Given the description of an element on the screen output the (x, y) to click on. 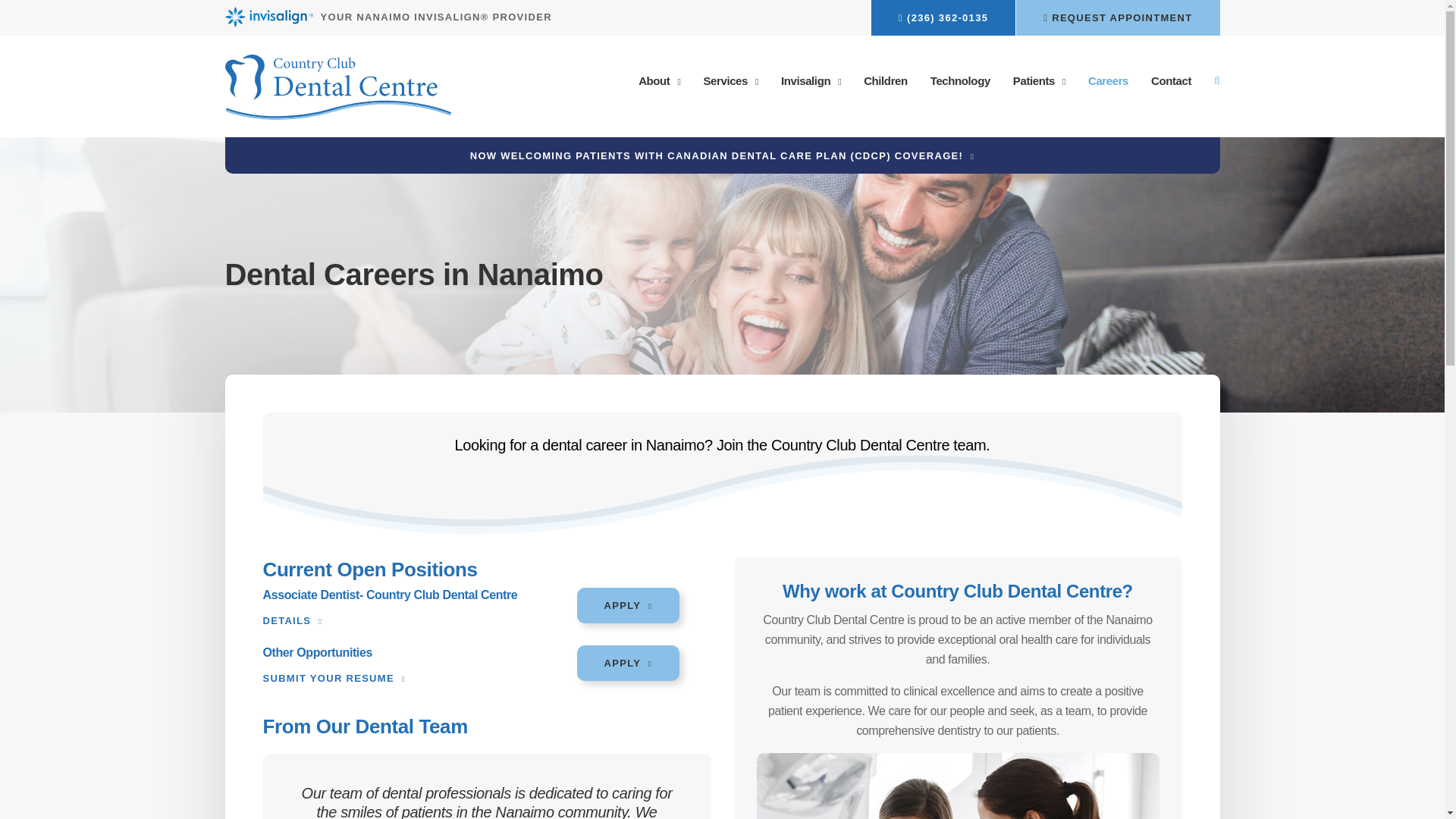
Services (730, 80)
About (659, 80)
REQUEST APPOINTMENT (1118, 18)
